Given the description of an element on the screen output the (x, y) to click on. 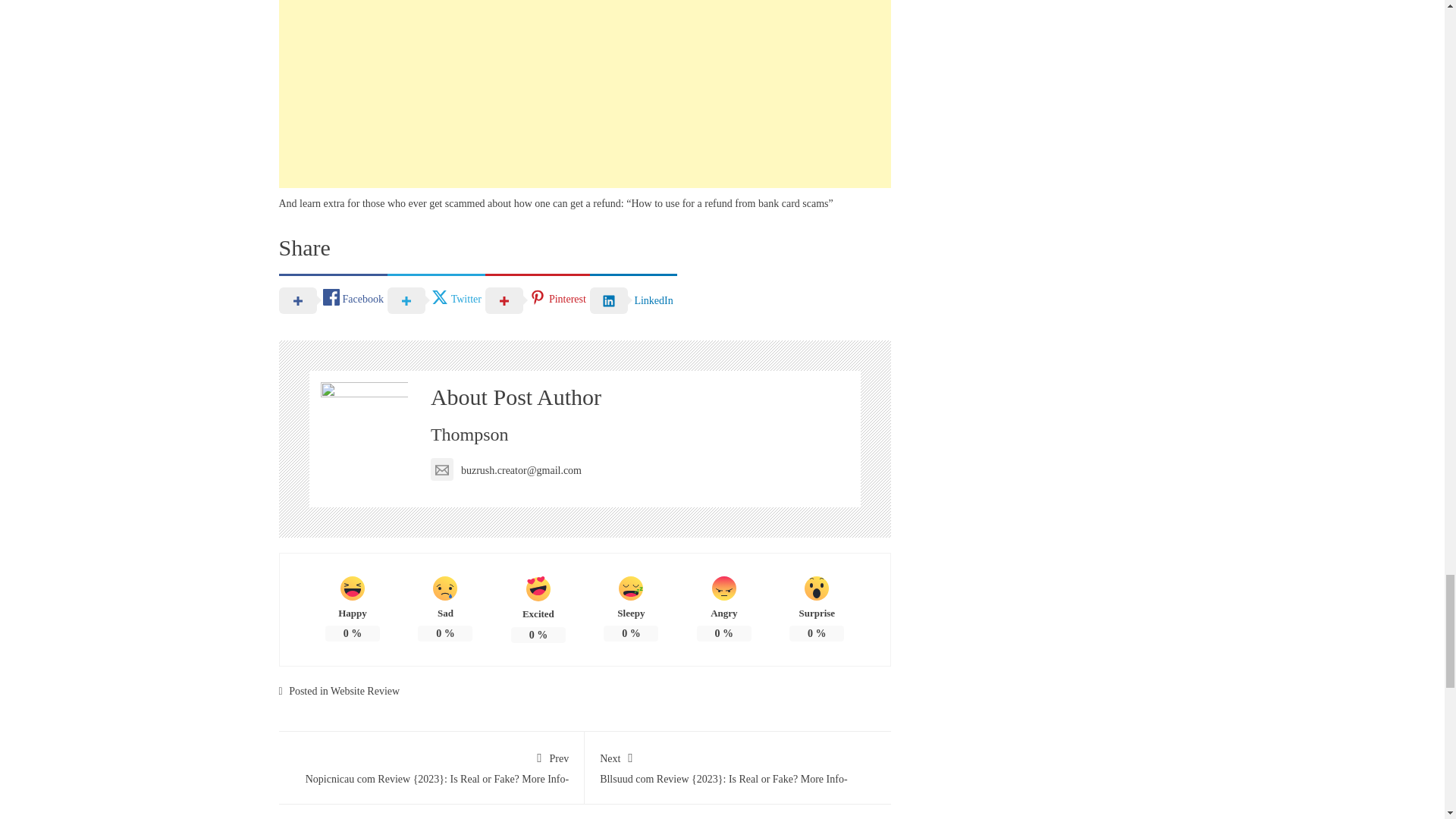
Pinterest (536, 299)
Twitter (435, 299)
LinkedIn (633, 299)
Thompson (469, 434)
Facebook (333, 299)
